Given the description of an element on the screen output the (x, y) to click on. 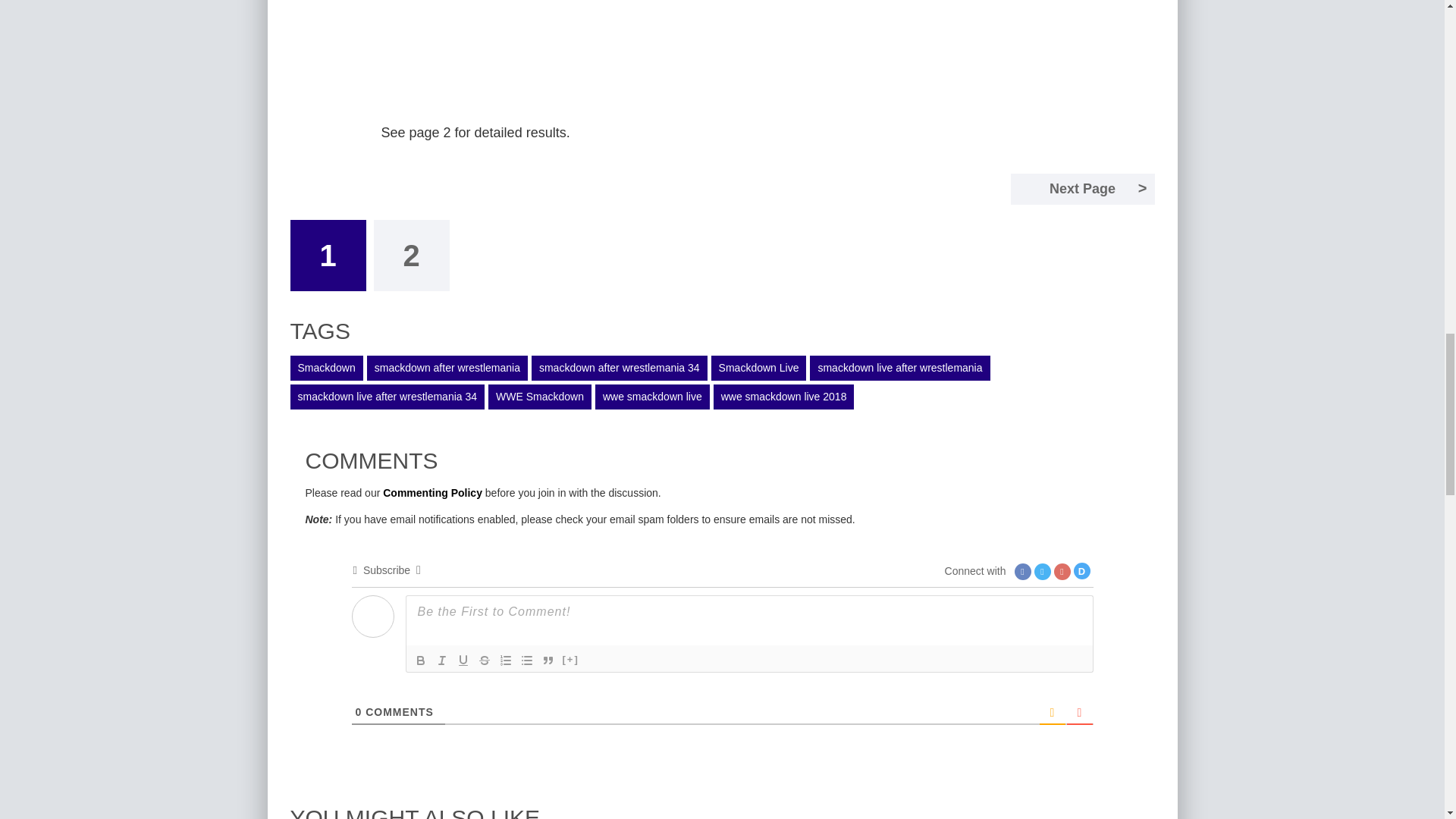
Underline (462, 660)
Italic (440, 660)
Bold (419, 660)
